Given the description of an element on the screen output the (x, y) to click on. 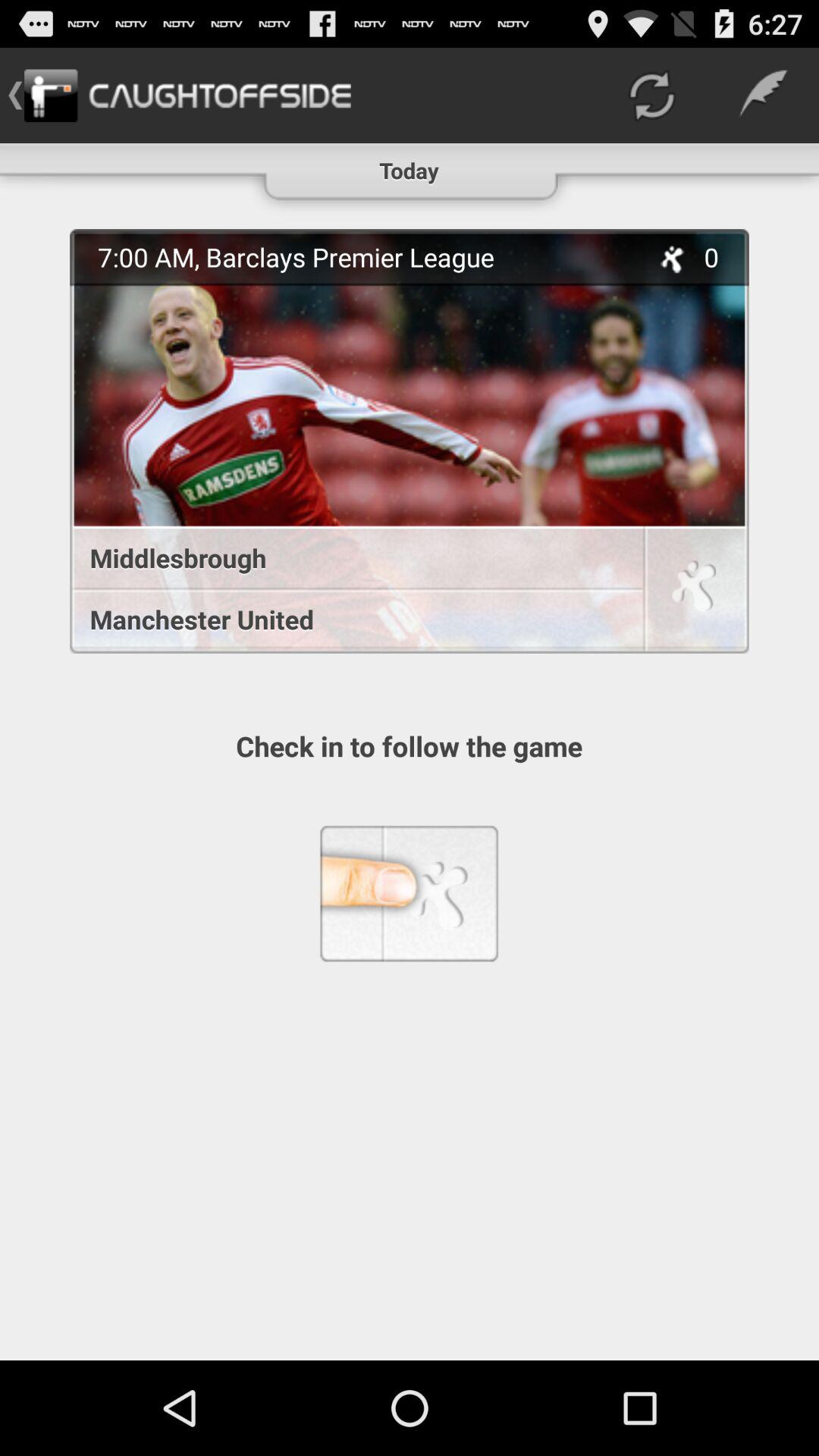
choose the icon next to the today (651, 95)
